Given the description of an element on the screen output the (x, y) to click on. 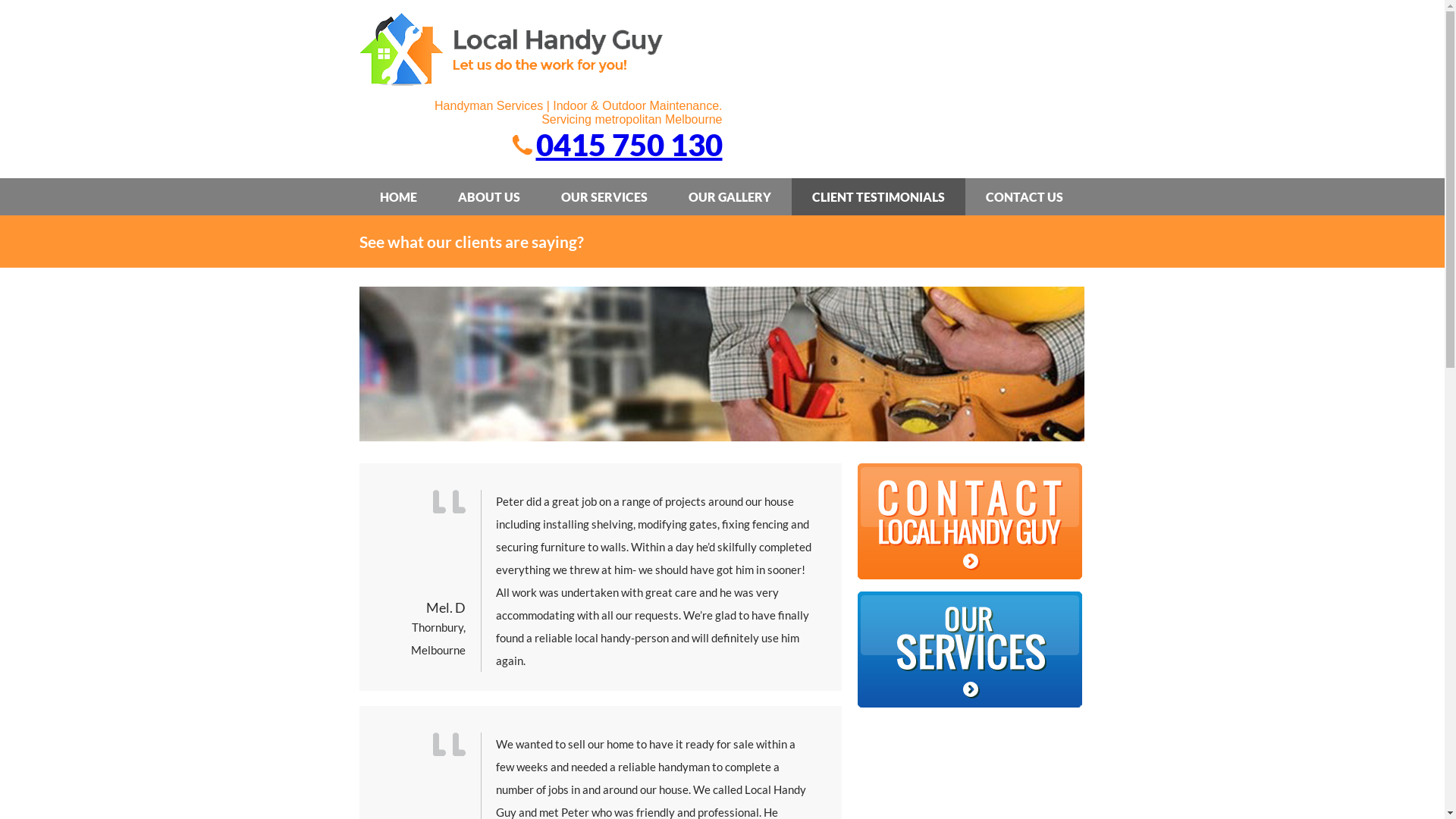
0415 750 130 Element type: text (628, 144)
HOME Element type: text (398, 196)
OUR GALLERY Element type: text (729, 196)
CLIENT TESTIMONIALS Element type: text (878, 196)
Local Handy Guy Element type: hover (510, 82)
OUR SERVICES Element type: text (604, 196)
CONTACT US Element type: text (1024, 196)
ABOUT US Element type: text (488, 196)
